Given the description of an element on the screen output the (x, y) to click on. 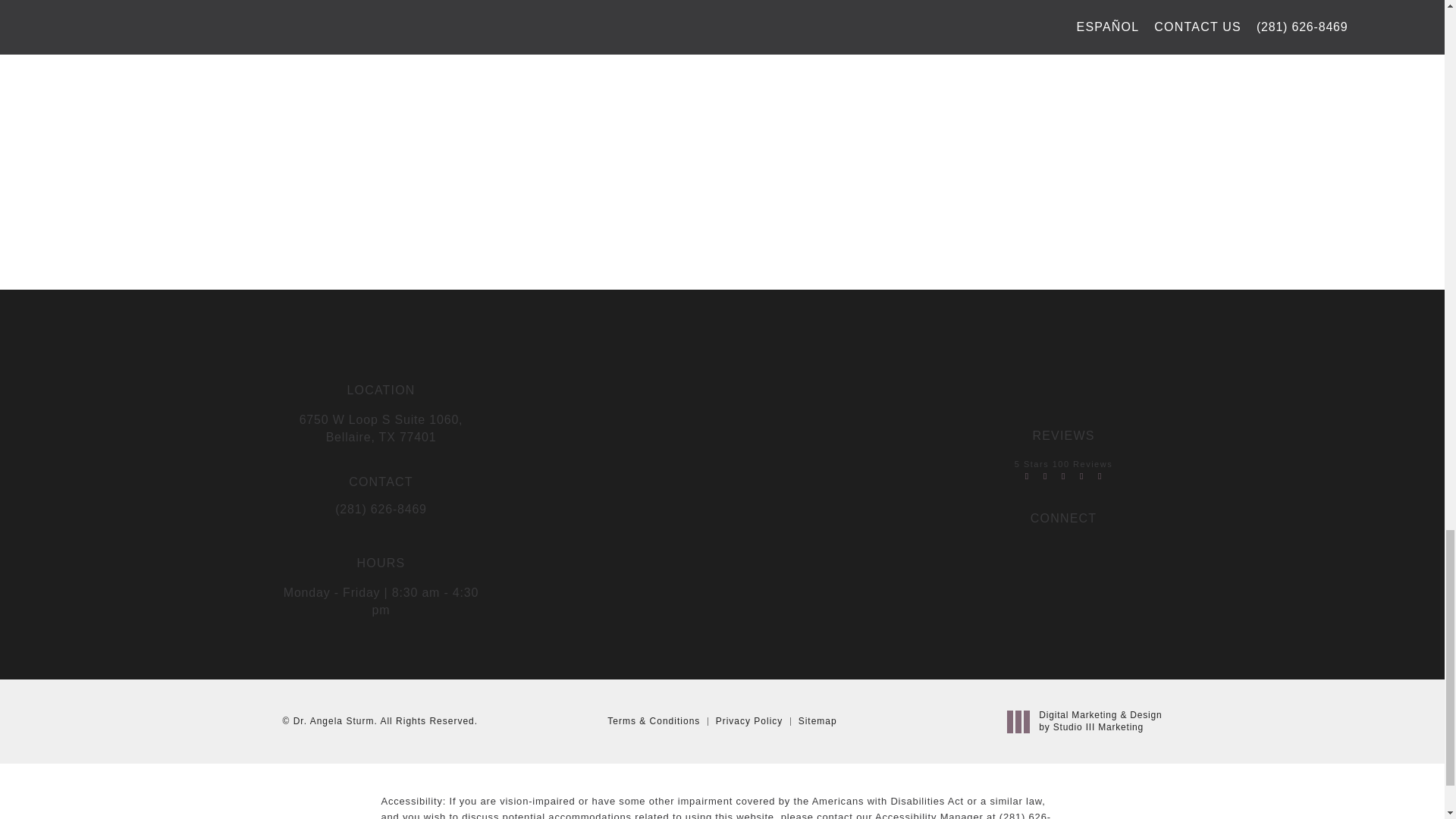
Dr. Angela Sturm on Instagram (1032, 549)
Dr. Angela Sturm on Youtube (1092, 549)
Dr. Angela Sturm on Facebook (1062, 549)
